Given the description of an element on the screen output the (x, y) to click on. 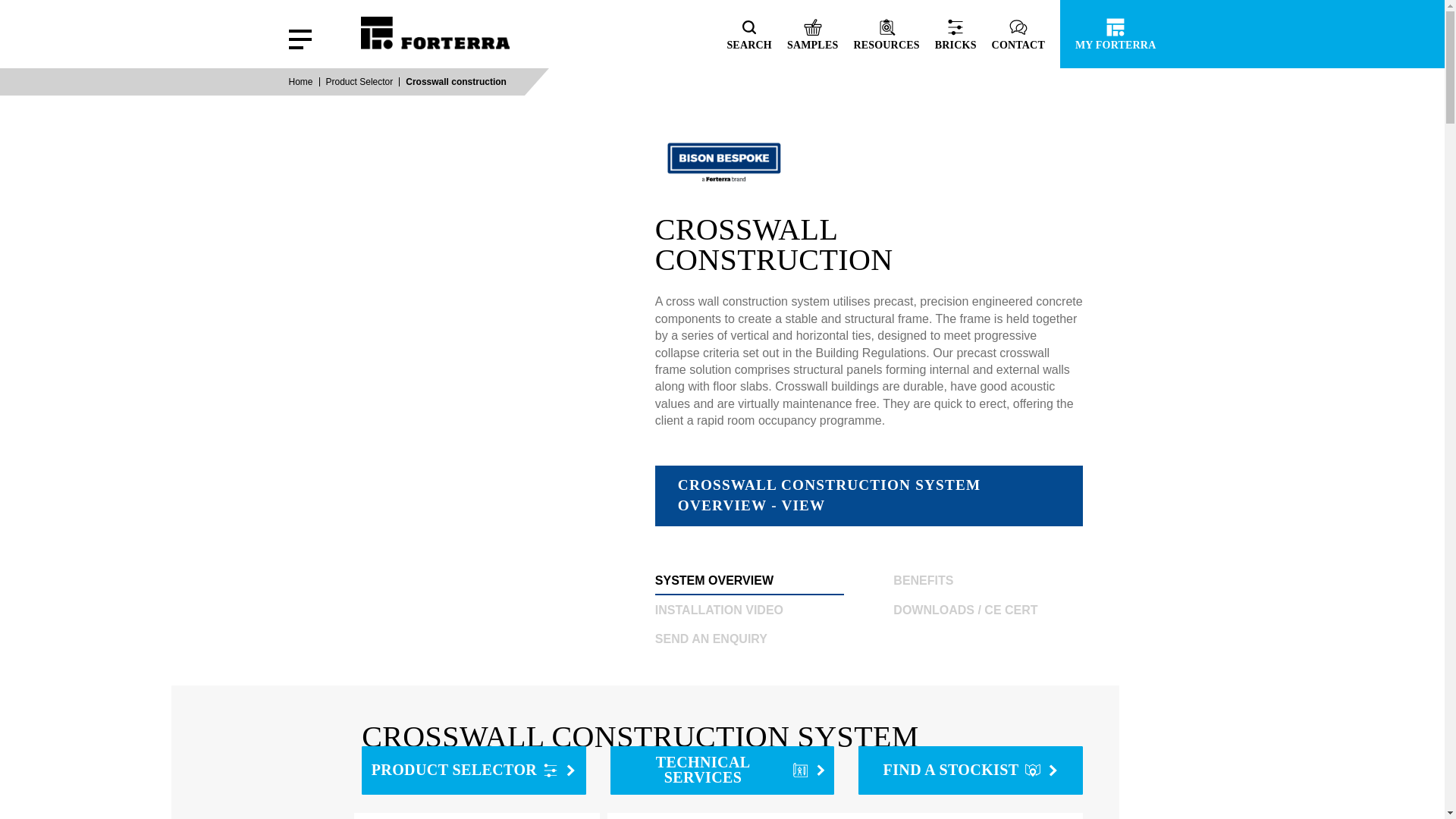
MY FORTERRA (1107, 33)
Resources (885, 33)
My Forterra (1107, 33)
Go to home (435, 24)
CROSSWALL CONSTRUCTION SYSTEM OVERVIEW - VIEW (869, 496)
RESOURCES (885, 33)
